Given the description of an element on the screen output the (x, y) to click on. 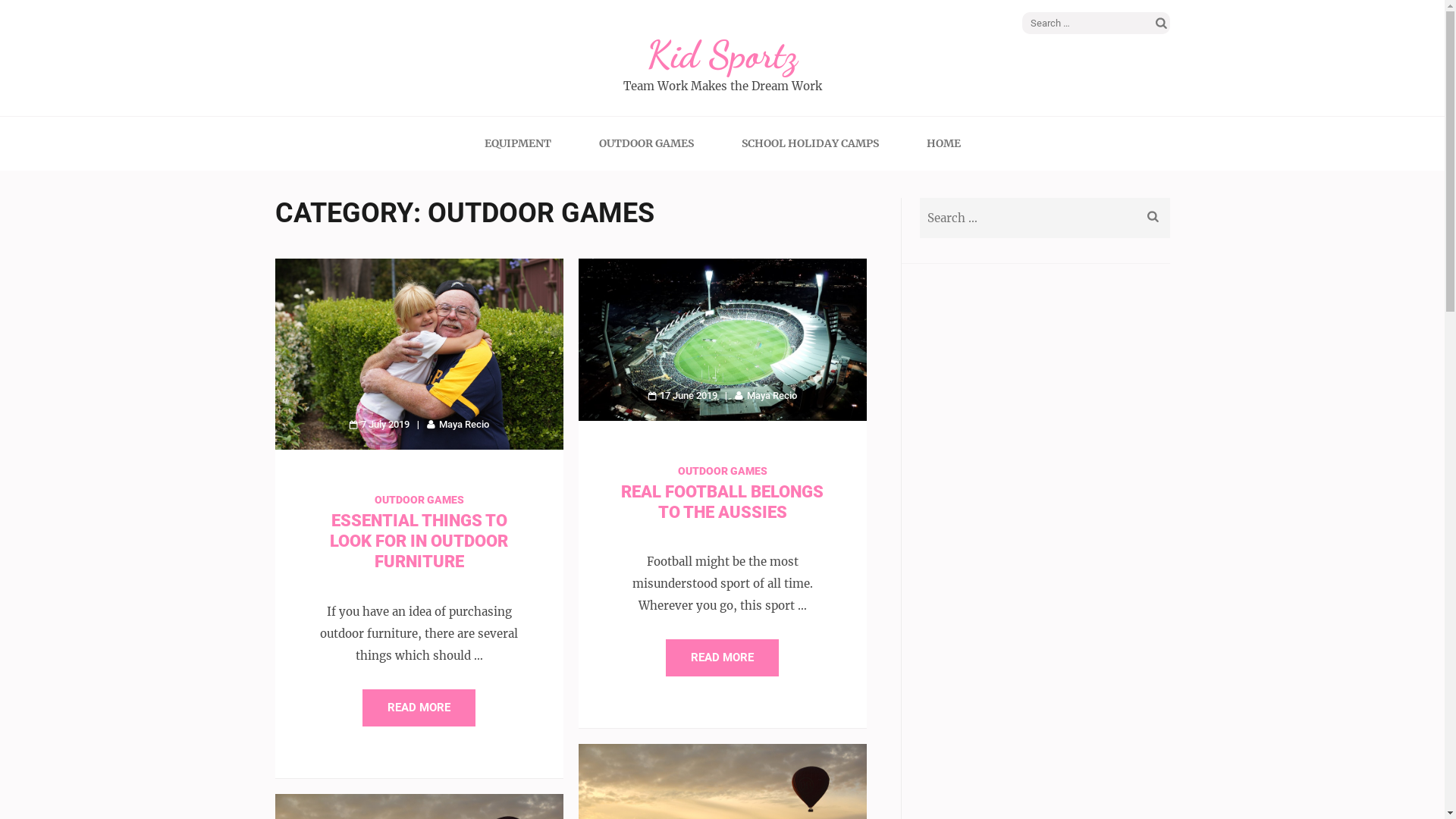
Maya Recio Element type: text (457, 423)
SCHOOL HOLIDAY CAMPS Element type: text (809, 143)
OUTDOOR GAMES Element type: text (722, 470)
REAL FOOTBALL BELONGS TO THE AUSSIES Element type: text (722, 501)
OUTDOOR GAMES Element type: text (646, 143)
Search Element type: text (1151, 216)
7 July 2019 Element type: text (378, 423)
READ MORE Element type: text (721, 657)
EQUIPMENT Element type: text (516, 143)
HOME Element type: text (943, 143)
17 June 2019 Element type: text (682, 395)
READ MORE Element type: text (418, 707)
OUTDOOR GAMES Element type: text (419, 499)
Search Element type: text (1161, 22)
Maya Recio Element type: text (765, 395)
Kid Sportz Element type: text (721, 54)
ESSENTIAL THINGS TO LOOK FOR IN OUTDOOR FURNITURE Element type: text (418, 541)
